Given the description of an element on the screen output the (x, y) to click on. 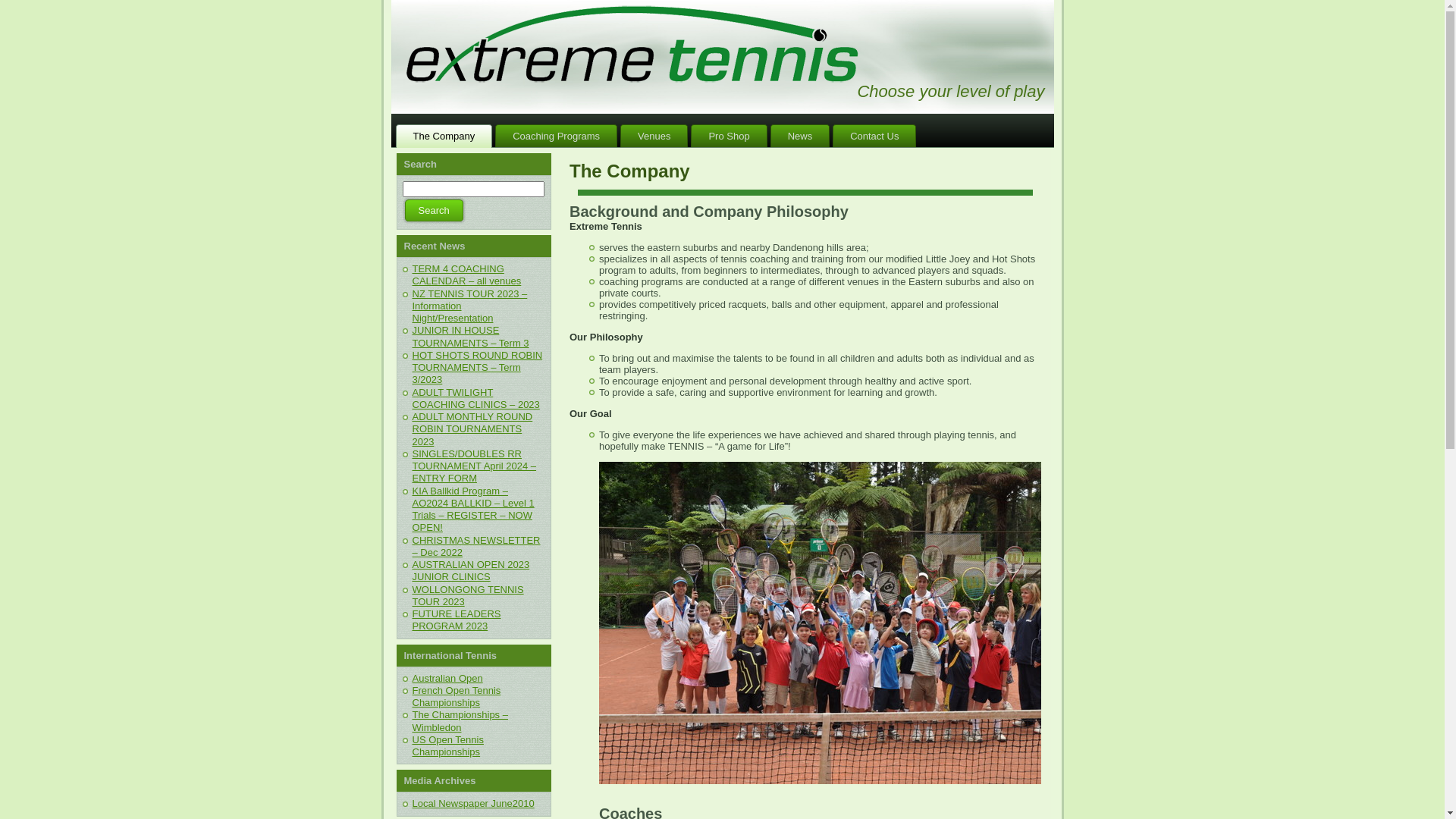
Australian Open Element type: text (447, 677)
Pro Shop Element type: text (728, 135)
FUTURE LEADERS PROGRAM 2023 Element type: text (456, 619)
ADULT MONTHLY ROUND ROBIN TOURNAMENTS 2023 Element type: text (472, 429)
et_divider-600x10 Element type: hover (804, 192)
WOLLONGONG TENNIS TOUR 2023 Element type: text (468, 595)
AUSTRALIAN OPEN 2023 JUNIOR CLINICS Element type: text (471, 570)
News Element type: text (800, 135)
French Open Tennis Championships Element type: text (456, 696)
Coaching Programs Element type: text (556, 135)
Venues Element type: text (653, 135)
Contact Us Element type: text (874, 135)
US Open Tennis Championships Element type: text (447, 745)
Group-640x425 Element type: hover (841, 622)
The Company Element type: text (443, 135)
Search Element type: text (432, 210)
Local Newspaper June2010 Element type: text (473, 803)
